Given the description of an element on the screen output the (x, y) to click on. 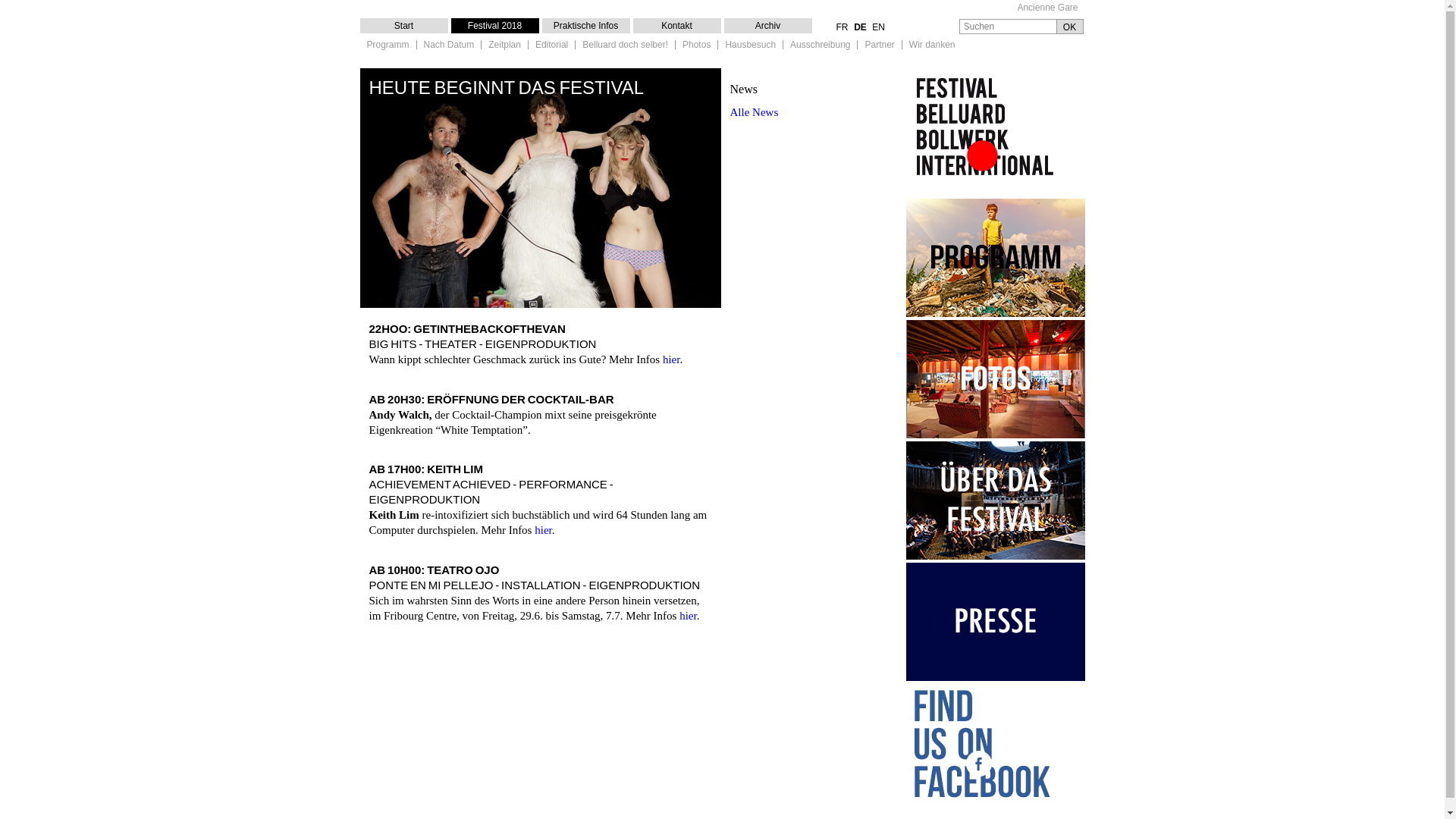
Wir danken Element type: text (932, 44)
Festival 2018 Element type: text (494, 25)
Photos Element type: text (696, 44)
Praktische Infos Element type: text (585, 25)
Hausbesuch Element type: text (750, 44)
hier Element type: text (671, 359)
hier Element type: text (687, 615)
hier Element type: text (543, 530)
FR Element type: text (841, 27)
Editorial Element type: text (551, 44)
Belluard doch selber! Element type: text (624, 44)
Archiv Element type: text (767, 25)
Start Element type: text (403, 25)
Kontakt Element type: text (676, 25)
EN Element type: text (877, 27)
OK Element type: text (1068, 26)
Ancienne Gare Element type: text (1047, 7)
Zeitplan Element type: text (504, 44)
Ausschreibung Element type: text (819, 44)
Programm Element type: text (387, 44)
Alle News Element type: text (753, 112)
DE Element type: text (859, 27)
Partner Element type: text (878, 44)
Nach Datum Element type: text (449, 44)
